Given the description of an element on the screen output the (x, y) to click on. 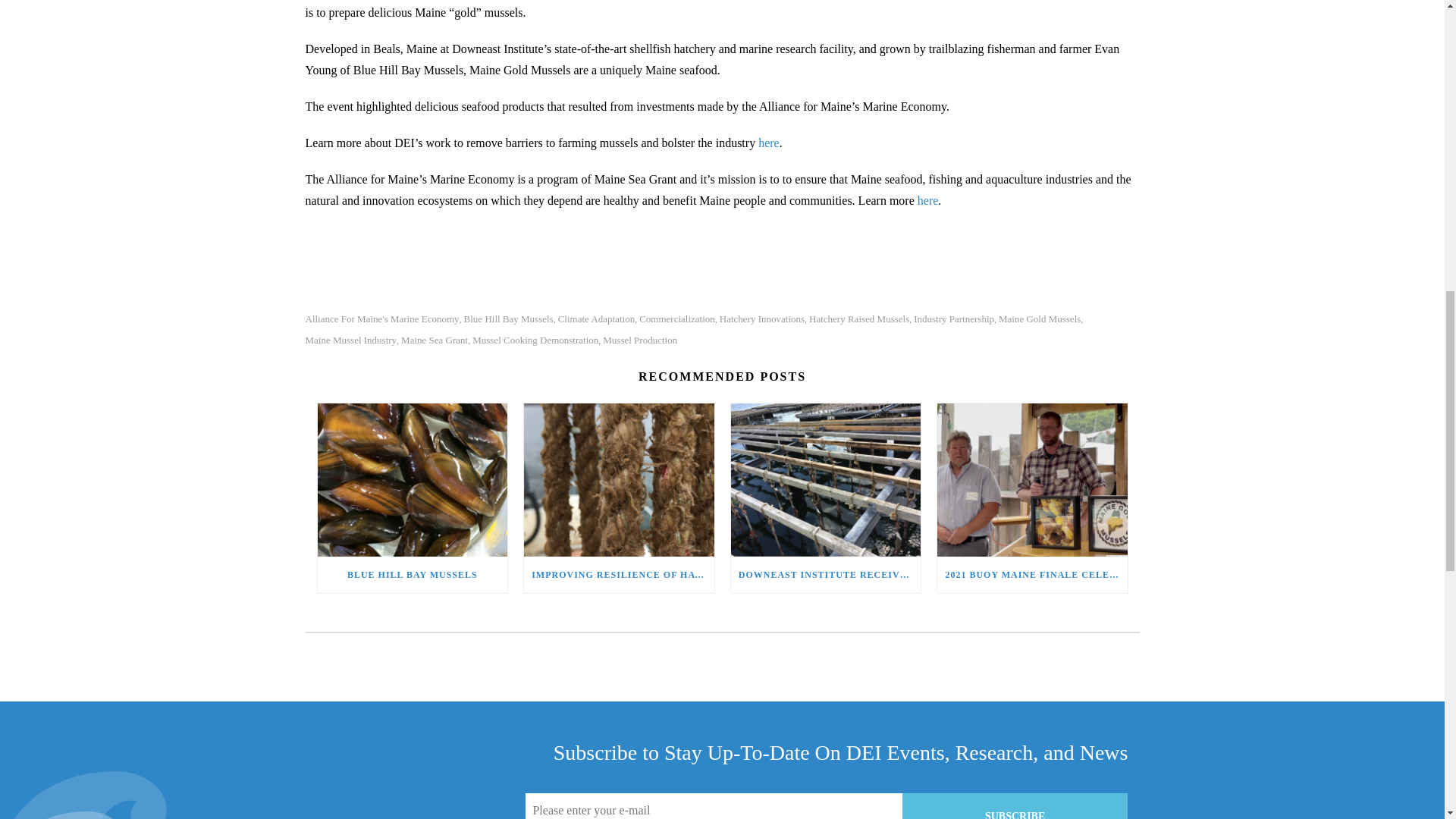
Blue Hill Bay Mussels (411, 479)
